Given the description of an element on the screen output the (x, y) to click on. 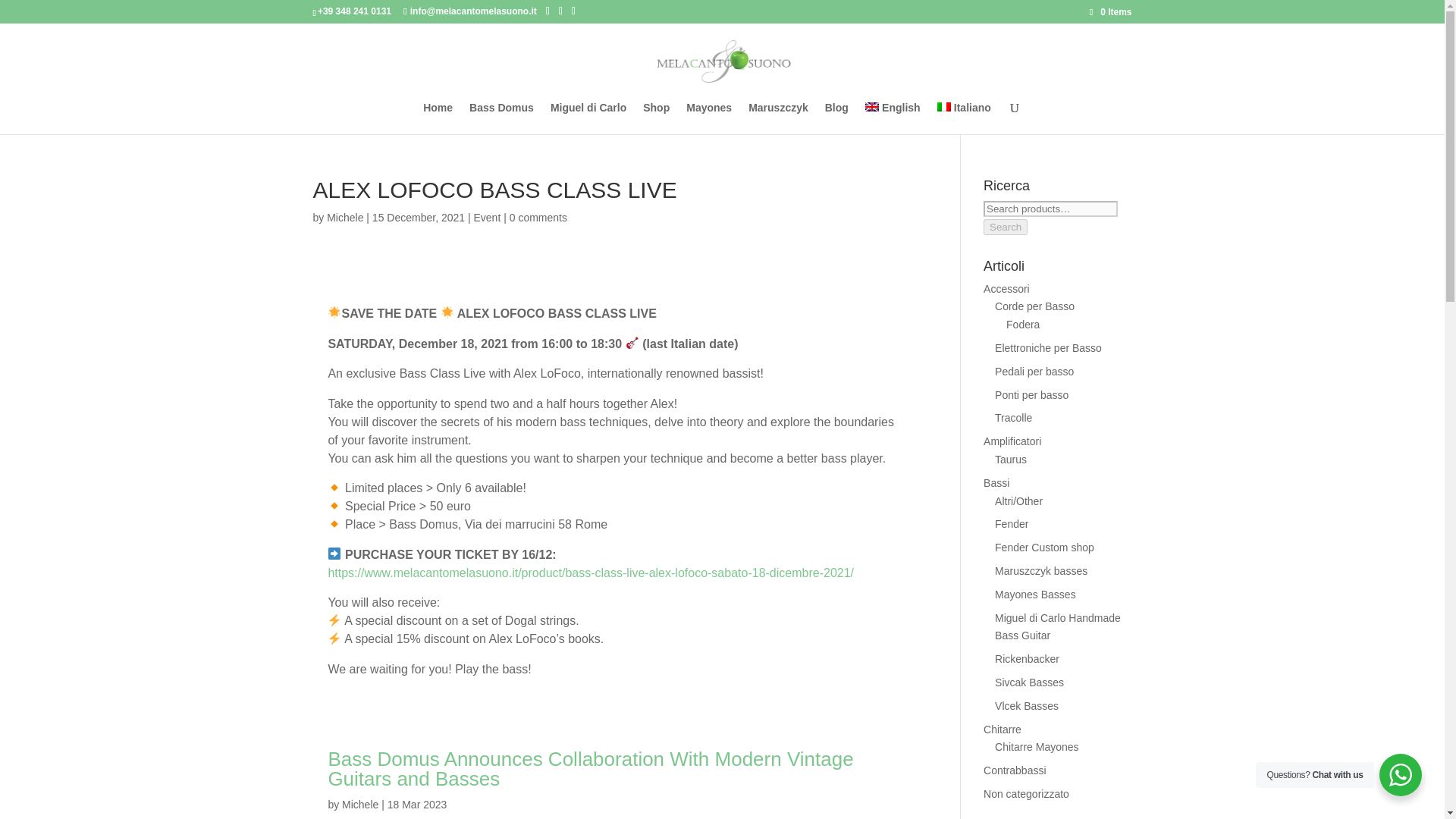
Michele (360, 804)
Shop (656, 118)
English (892, 118)
Miguel di Carlo (588, 118)
Event (486, 217)
English (892, 118)
Italiano (964, 118)
Maruszczyk (778, 118)
Posts by Michele (344, 217)
Posts by Michele (360, 804)
Michele (344, 217)
Mayones (708, 118)
Italiano (964, 118)
Home (437, 118)
0 comments (538, 217)
